Given the description of an element on the screen output the (x, y) to click on. 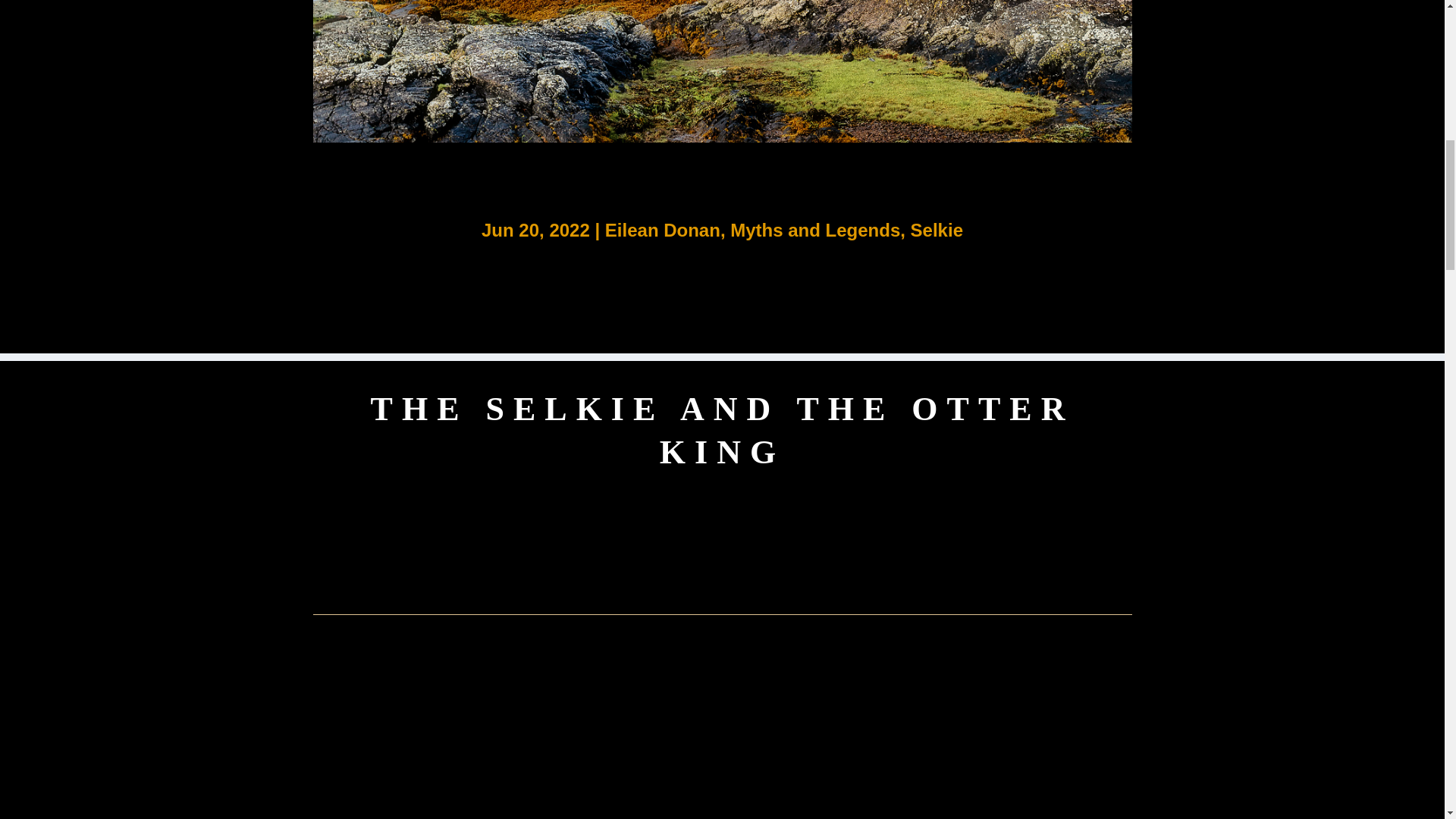
Myths and Legends (814, 230)
Eilean Donan Castle (722, 71)
Selkie (936, 230)
Eilean Donan (662, 230)
Eilean Donan (995, 658)
